Given the description of an element on the screen output the (x, y) to click on. 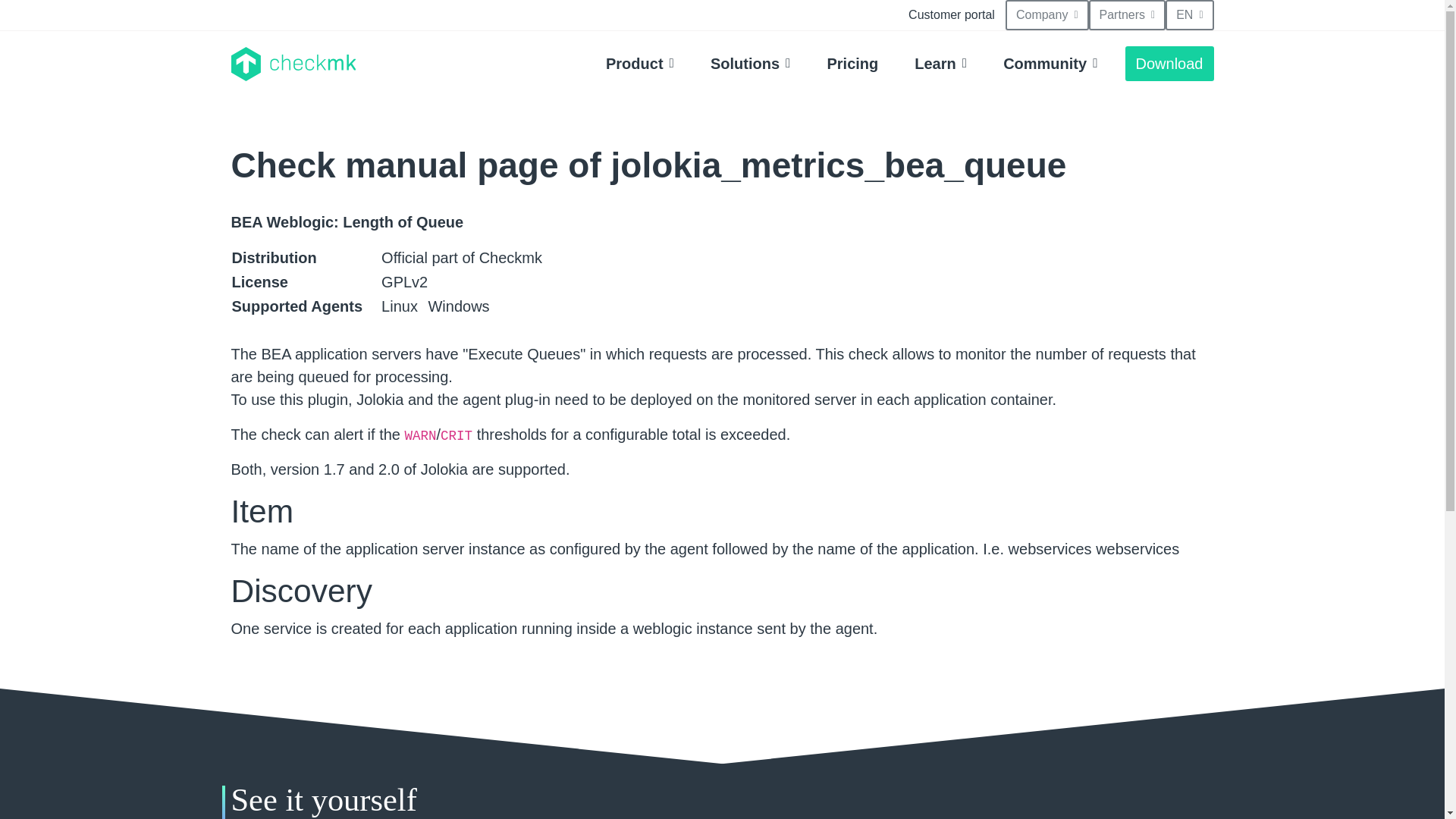
Solutions (750, 63)
Checkmk (292, 63)
Customer portal (952, 15)
EN (1189, 15)
Company (1047, 15)
Product (639, 63)
Partners (1127, 15)
